Given the description of an element on the screen output the (x, y) to click on. 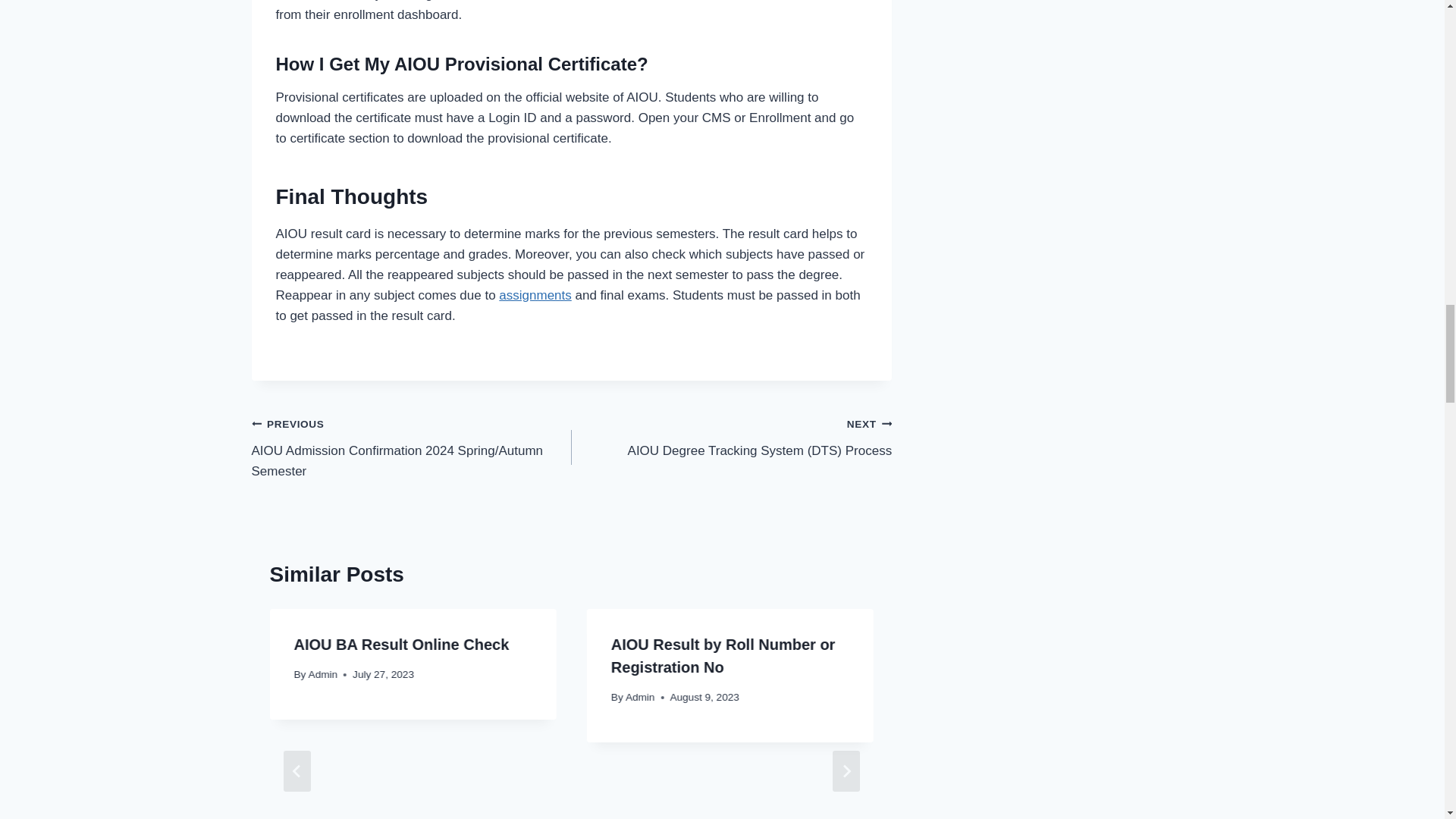
assignments (534, 295)
